Given the description of an element on the screen output the (x, y) to click on. 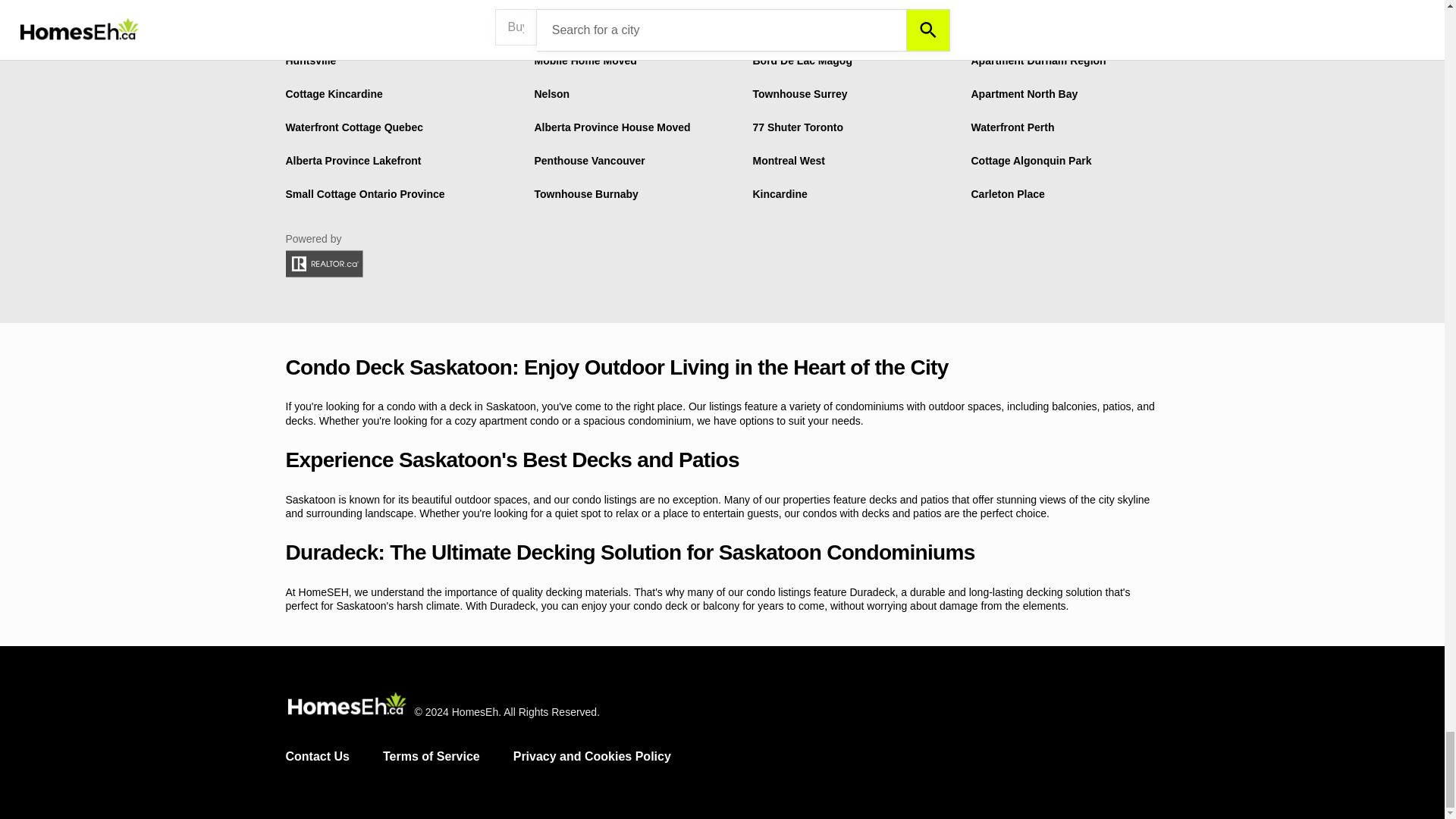
HomesEh (345, 705)
